Given the description of an element on the screen output the (x, y) to click on. 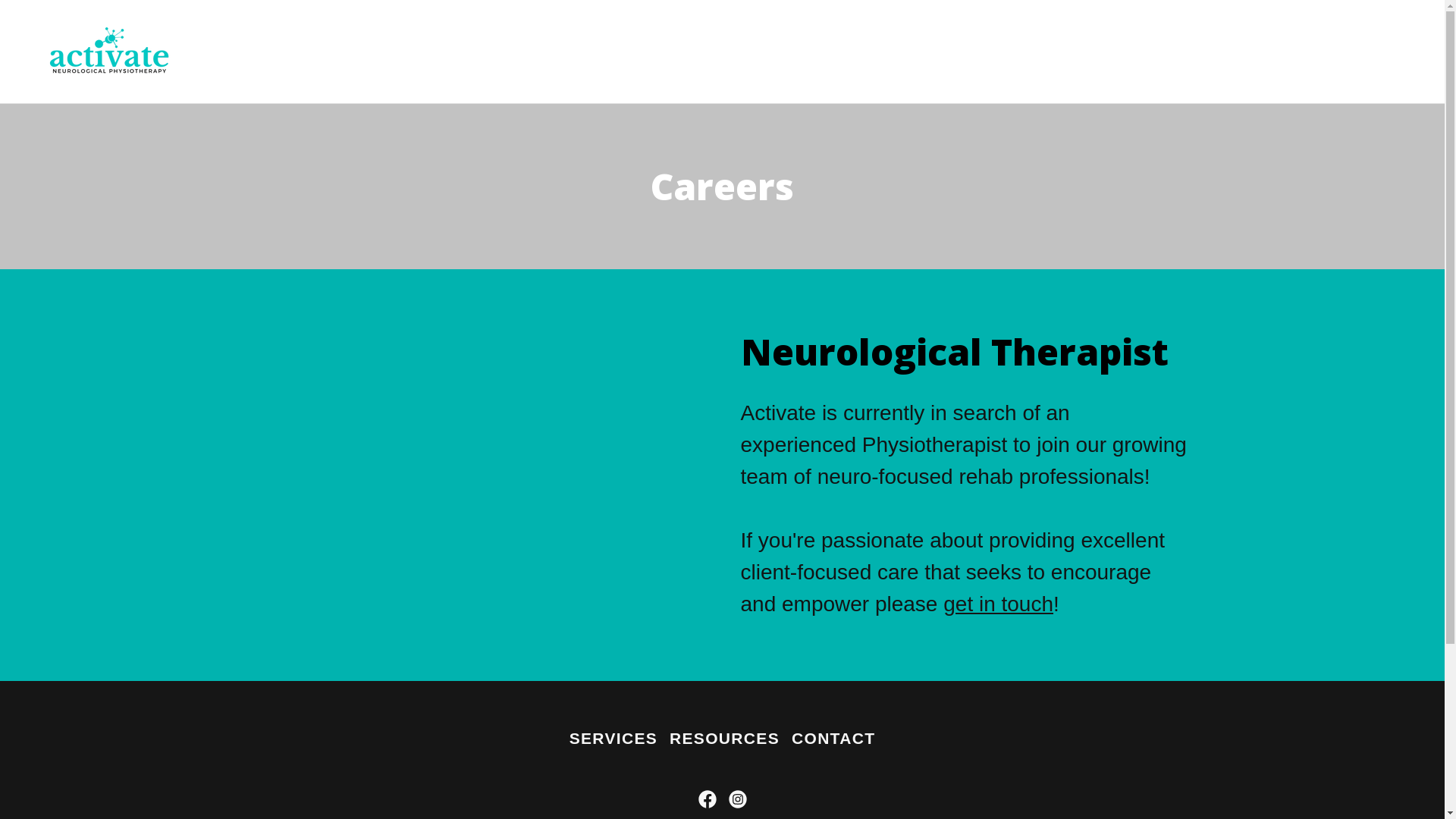
SERVICES Element type: text (613, 738)
get in touch Element type: text (998, 603)
RESOURCES Element type: text (724, 738)
CONTACT Element type: text (833, 738)
Activate Neurological Physiotherapy Element type: hover (109, 50)
